Given the description of an element on the screen output the (x, y) to click on. 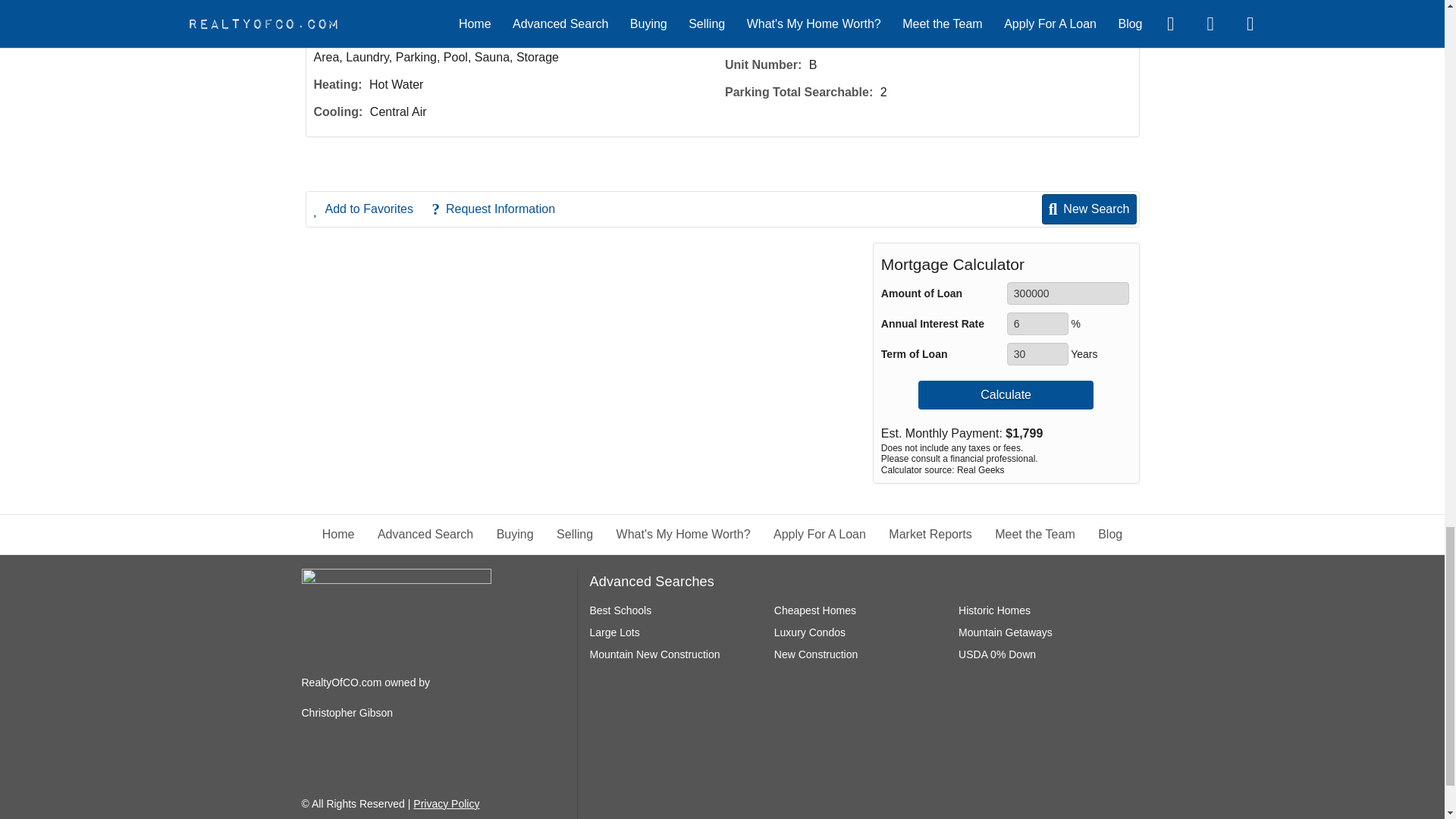
300000 (1068, 292)
30 (1037, 354)
6 (1037, 323)
